Given the description of an element on the screen output the (x, y) to click on. 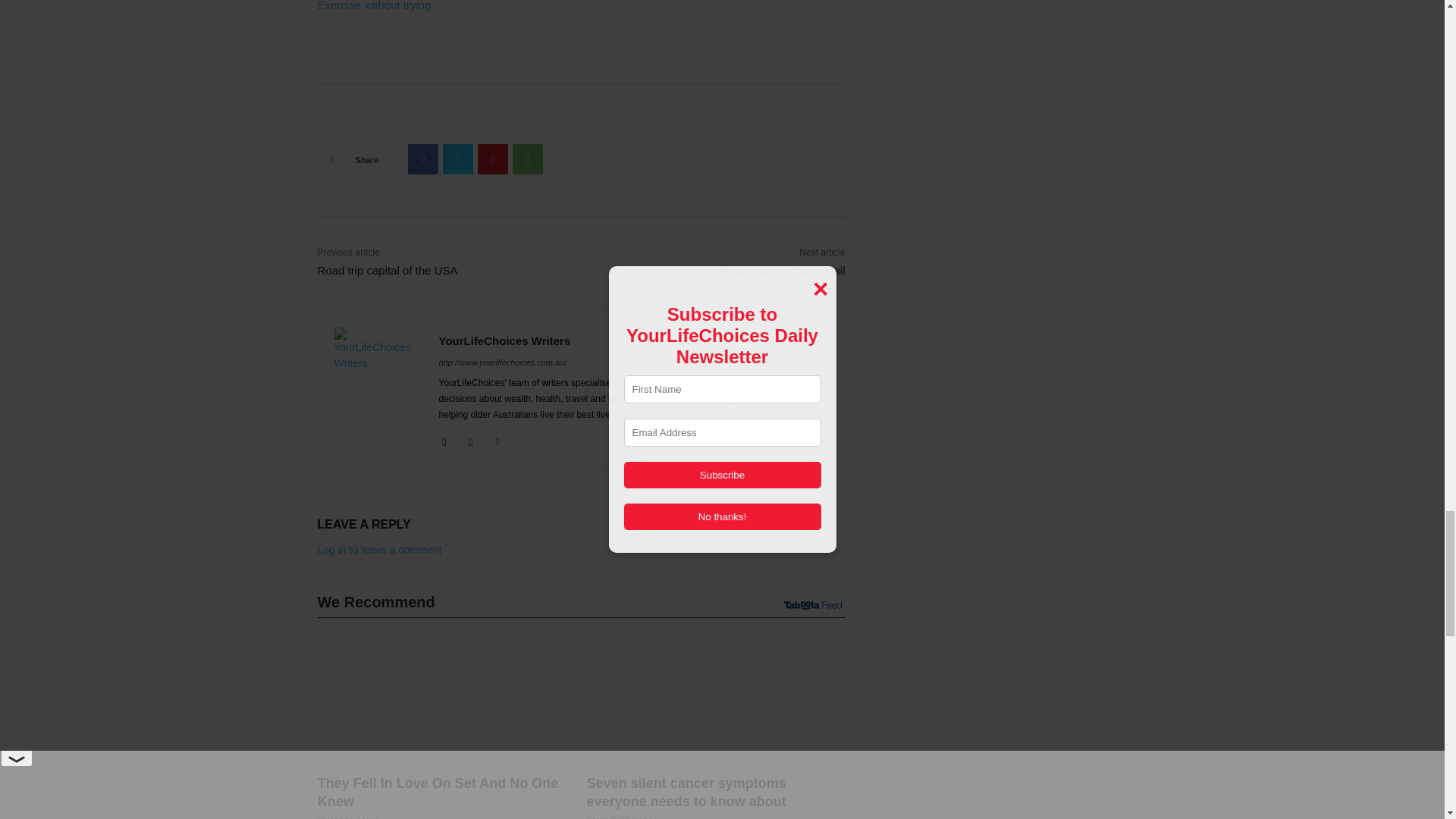
Twitter (457, 159)
Facebook (422, 159)
WhatsApp (527, 159)
Pinterest (492, 159)
